Given the description of an element on the screen output the (x, y) to click on. 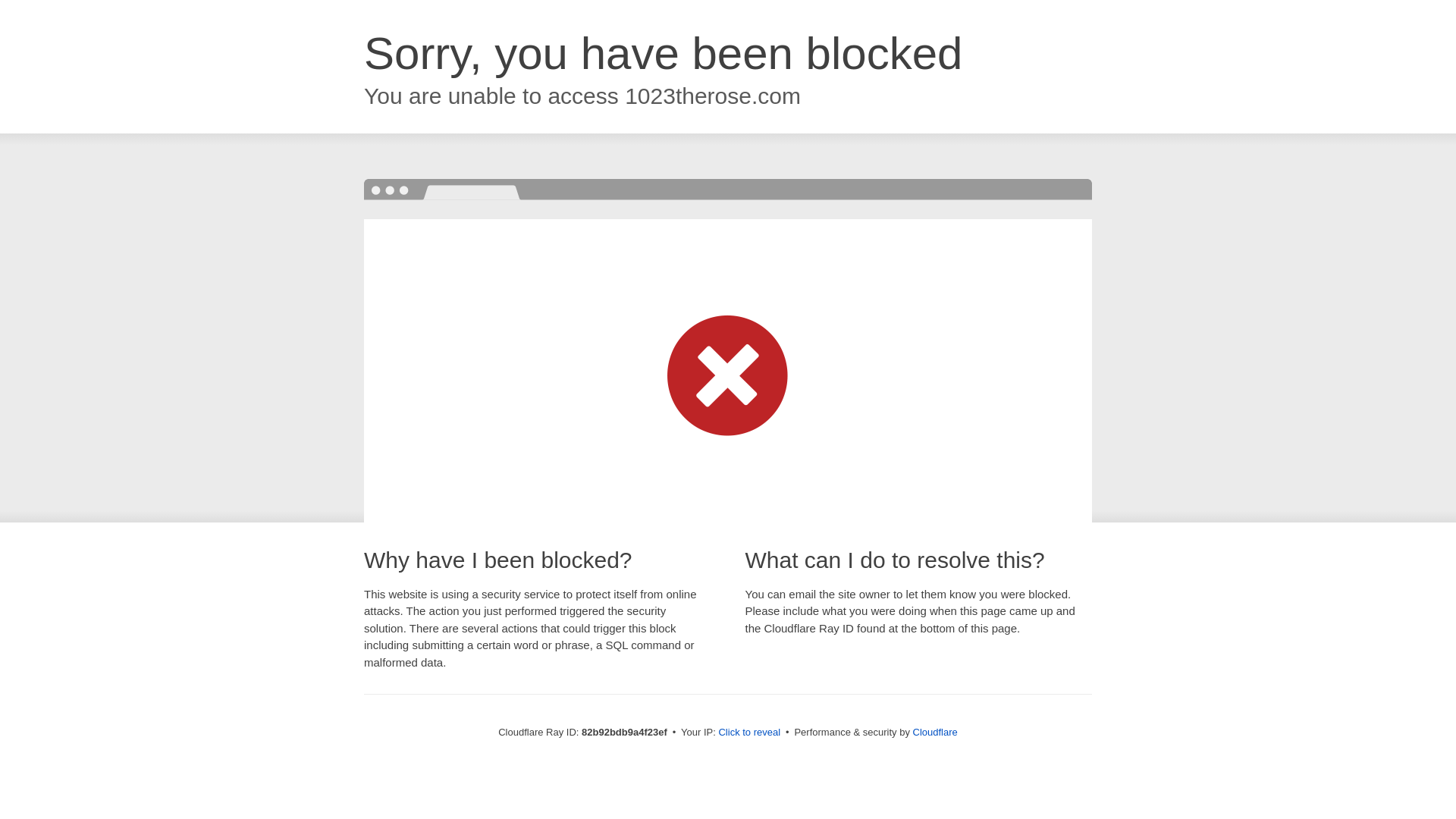
Click to reveal Element type: text (749, 732)
Cloudflare Element type: text (935, 731)
